Given the description of an element on the screen output the (x, y) to click on. 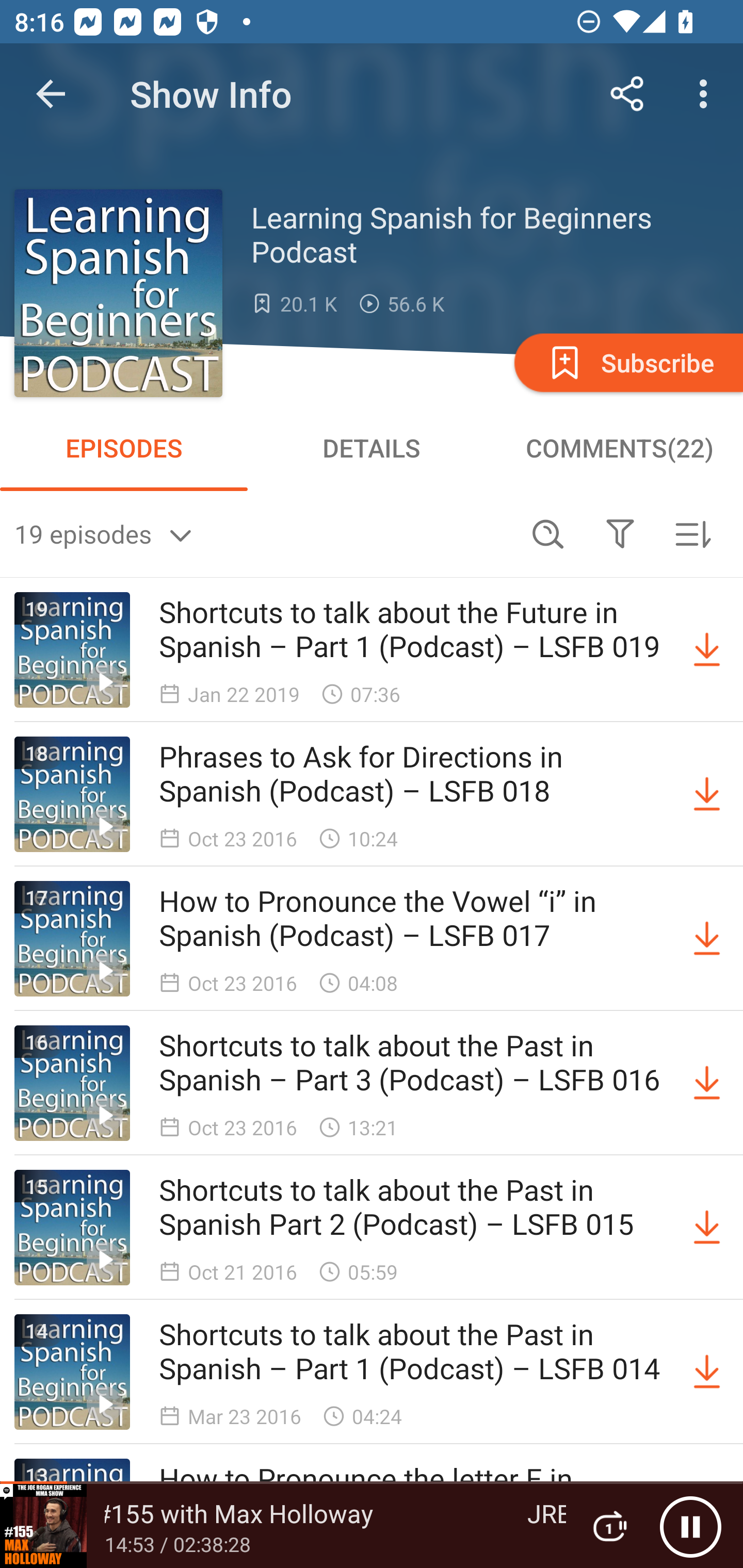
Navigate up (50, 93)
Share (626, 93)
More options (706, 93)
Subscribe (627, 361)
EPISODES (123, 447)
DETAILS (371, 447)
COMMENTS(22) (619, 447)
19 episodes  (262, 533)
 Search (547, 533)
 (619, 533)
 Sorted by newest first (692, 533)
Download (706, 649)
Download (706, 793)
Download (706, 939)
Download (706, 1083)
Download (706, 1227)
Download (706, 1371)
Pause (690, 1526)
